Given the description of an element on the screen output the (x, y) to click on. 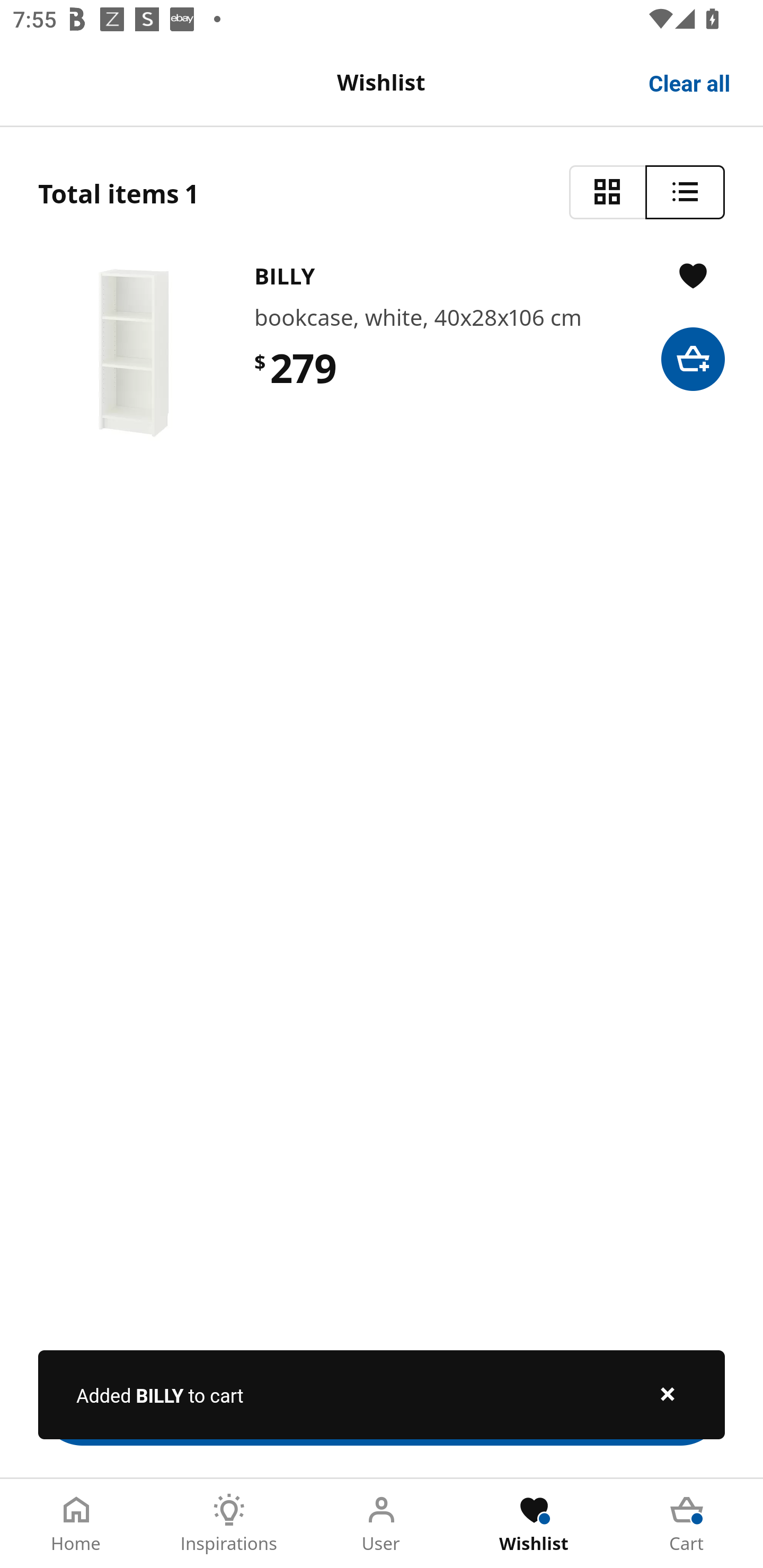
Clear all (689, 81)
​B​I​L​L​Y​
bookcase, white, 40x28x106 cm
$
279 (381, 352)
Add available items to cart (381, 1400)
Home
Tab 1 of 5 (76, 1522)
Inspirations
Tab 2 of 5 (228, 1522)
User
Tab 3 of 5 (381, 1522)
Wishlist
Tab 4 of 5 (533, 1522)
Cart
Tab 5 of 5 (686, 1522)
